Given the description of an element on the screen output the (x, y) to click on. 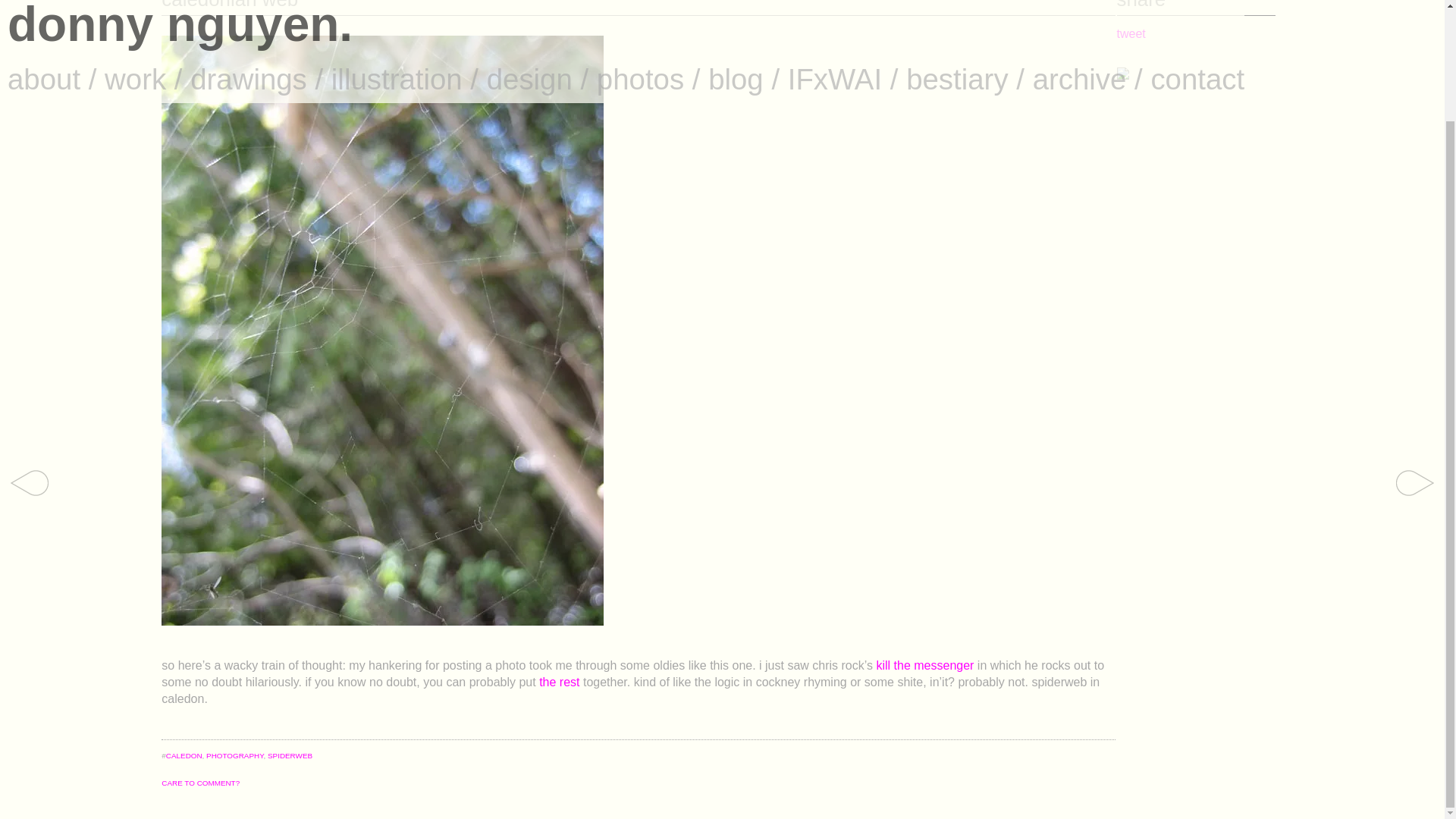
SPIDERWEB (290, 755)
CARE TO COMMENT? (200, 782)
tweet (1130, 33)
kill the messenger (926, 665)
CALEDON (183, 755)
the rest (560, 681)
PHOTOGRAPHY (234, 755)
